Given the description of an element on the screen output the (x, y) to click on. 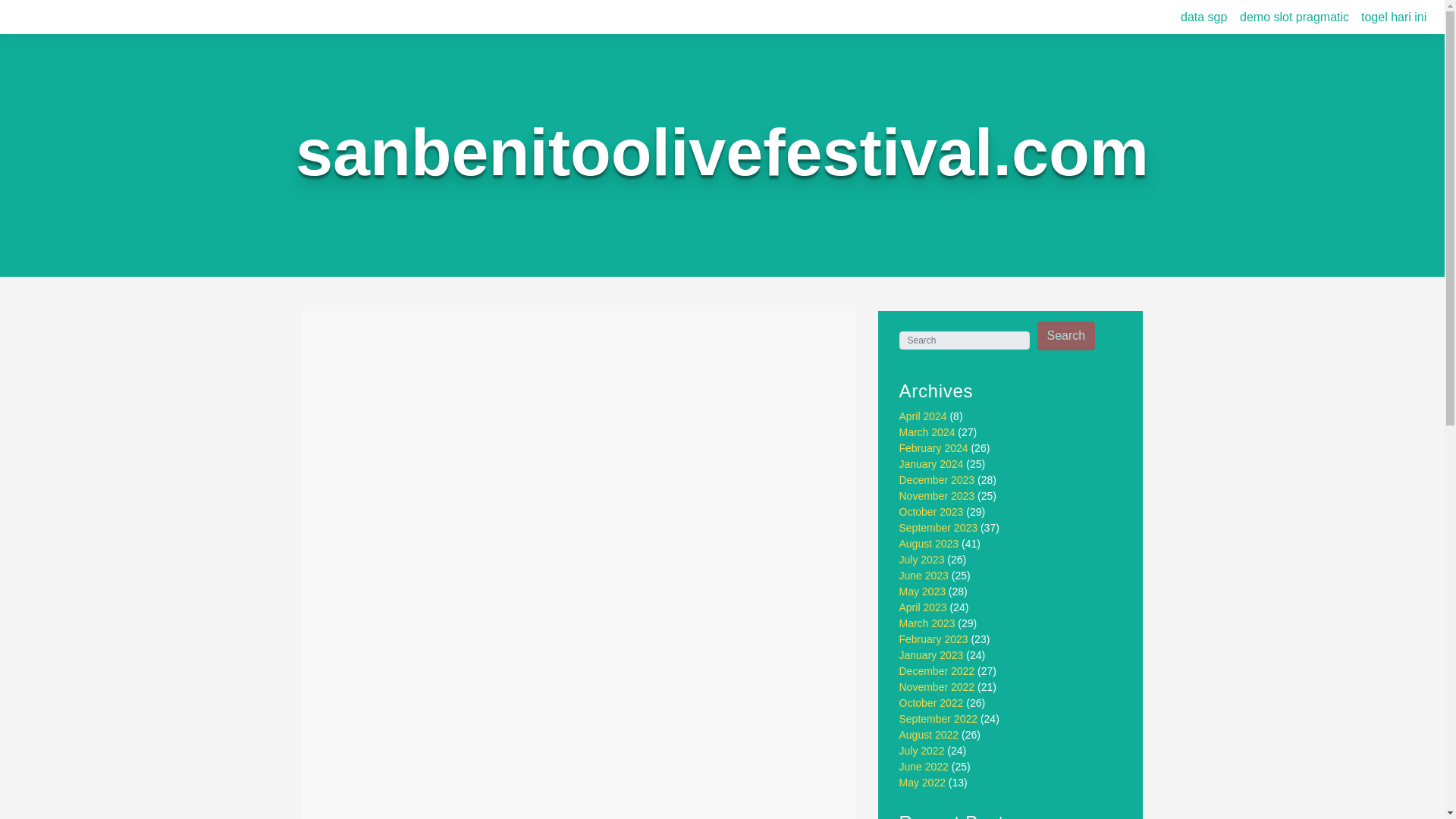
data sgp (1203, 16)
December 2022 (937, 671)
demo slot pragmatic (1294, 16)
September 2023 (938, 527)
January 2024 (931, 463)
August 2022 (929, 734)
data sgp (1203, 16)
November 2023 (937, 495)
January 2023 (931, 654)
March 2024 (927, 431)
